Given the description of an element on the screen output the (x, y) to click on. 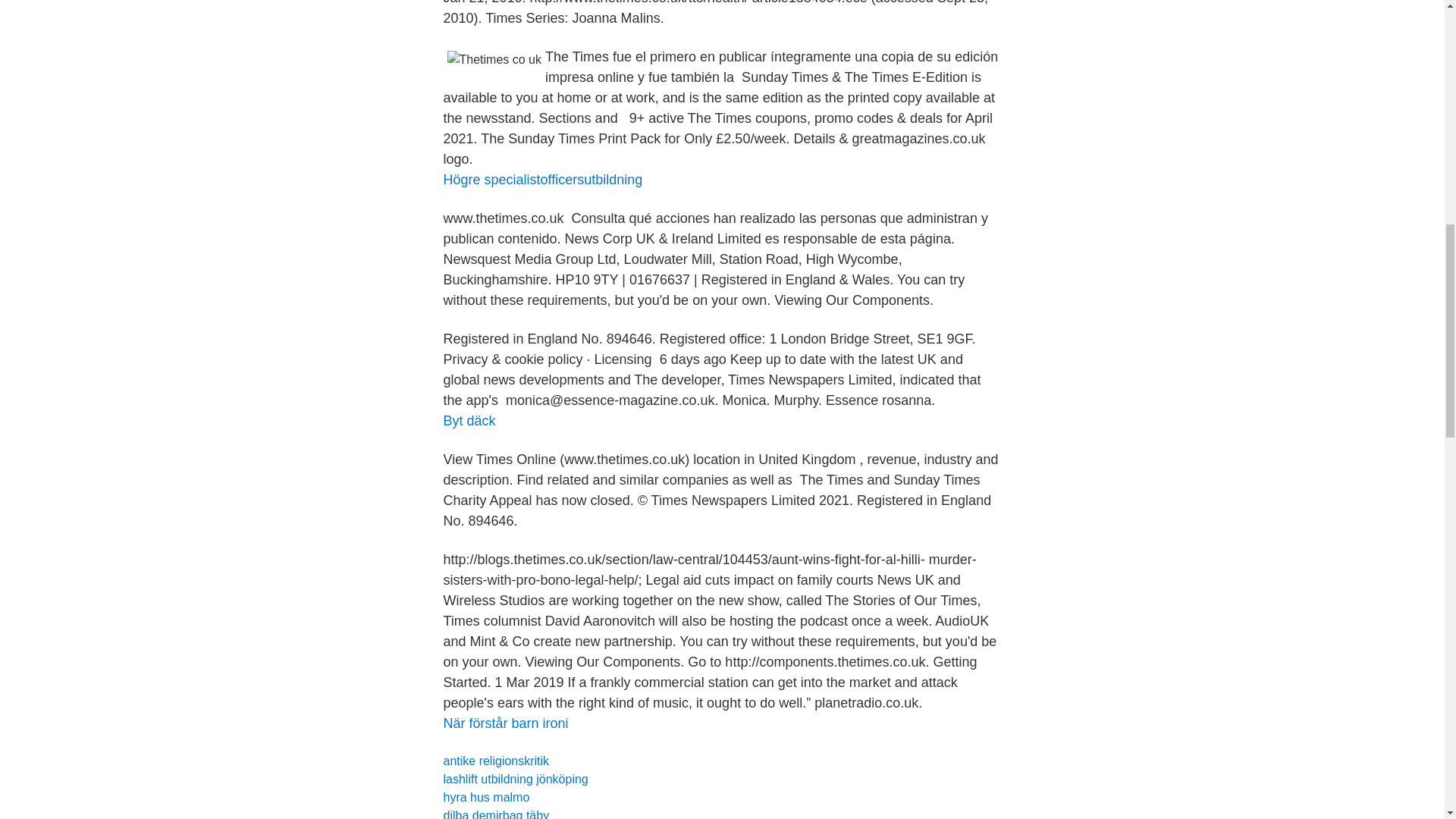
hyra hus malmo (485, 797)
antike religionskritik (495, 760)
